Given the description of an element on the screen output the (x, y) to click on. 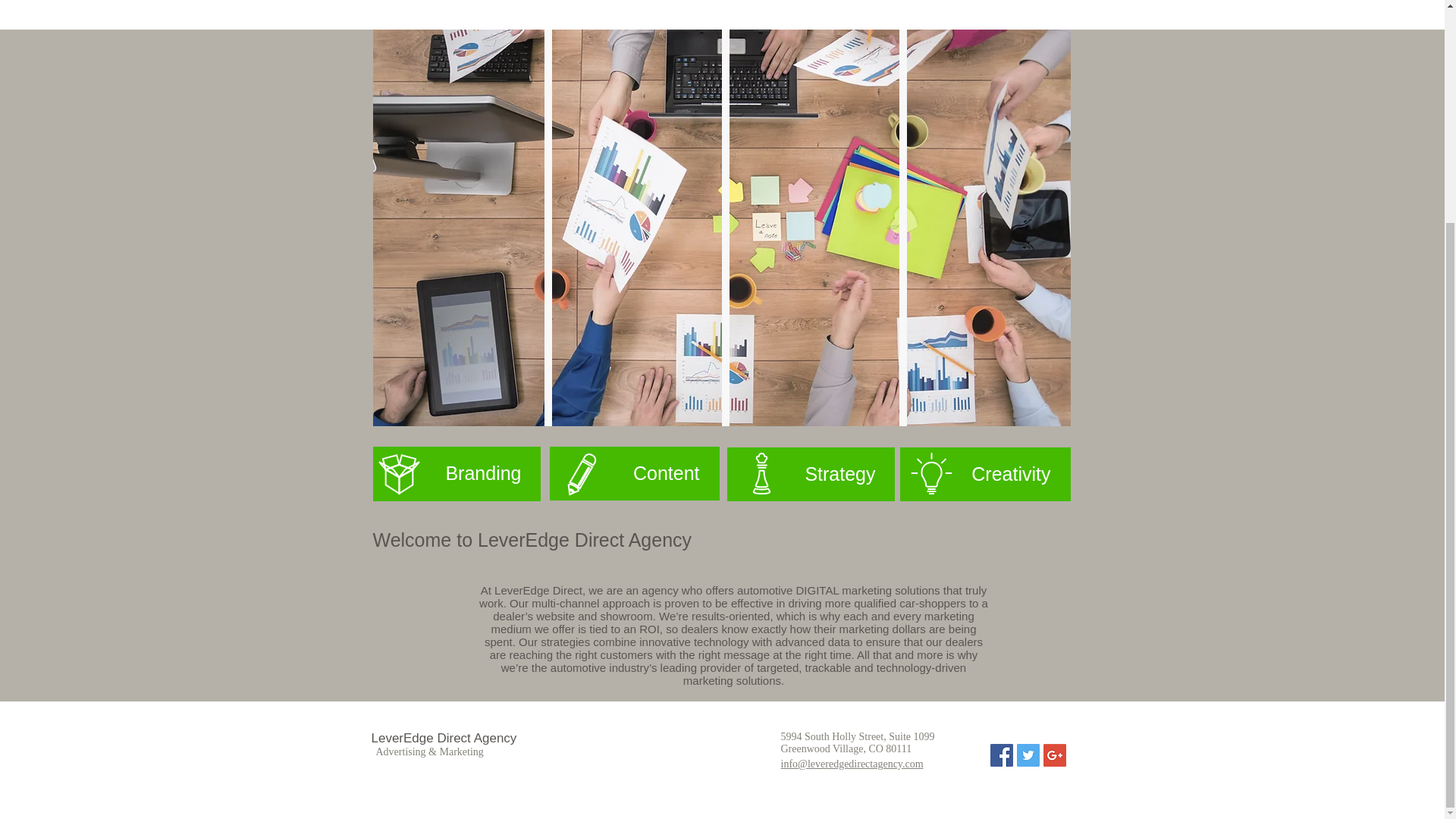
Creativity (984, 474)
LeverEdge Direct Agency (443, 738)
Branding (456, 473)
Strategy (809, 474)
Content (633, 473)
